Given the description of an element on the screen output the (x, y) to click on. 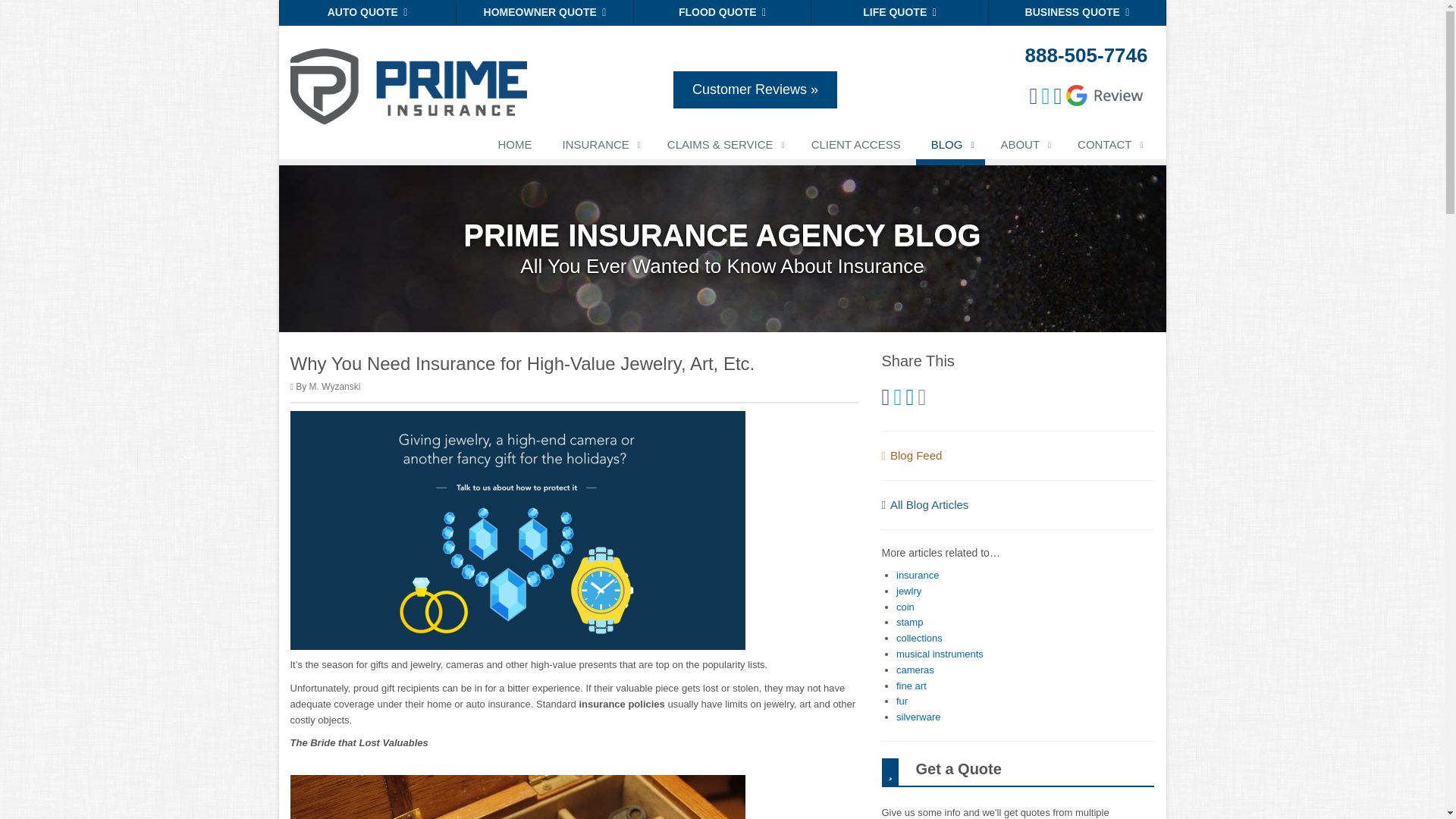
FLOOD QUOTE (721, 12)
HOME (514, 147)
HOMEOWNER QUOTE (545, 12)
AUTO QUOTE (368, 12)
INSURANCE (598, 147)
